Given the description of an element on the screen output the (x, y) to click on. 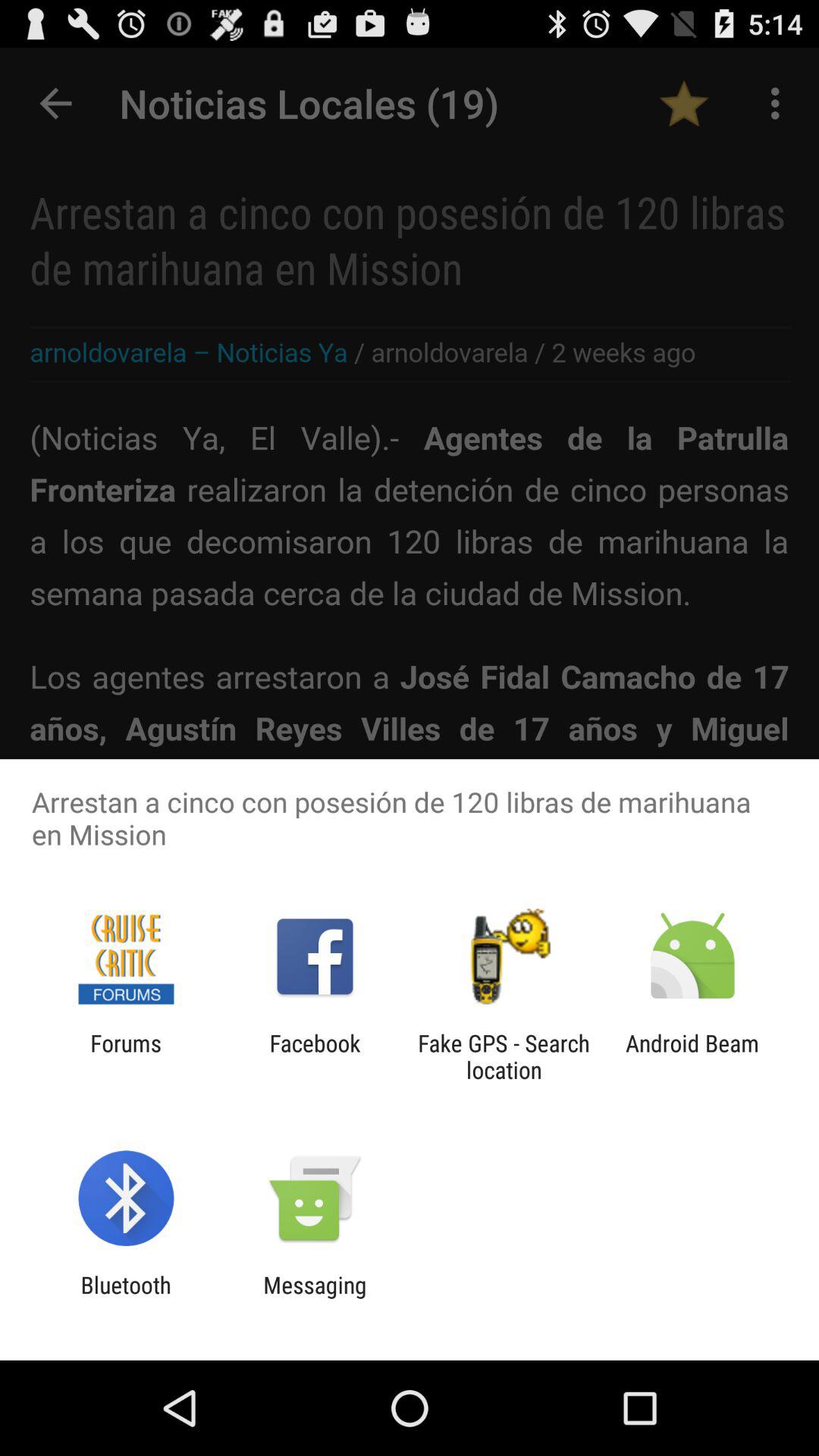
turn on the app to the left of the messaging app (125, 1298)
